Given the description of an element on the screen output the (x, y) to click on. 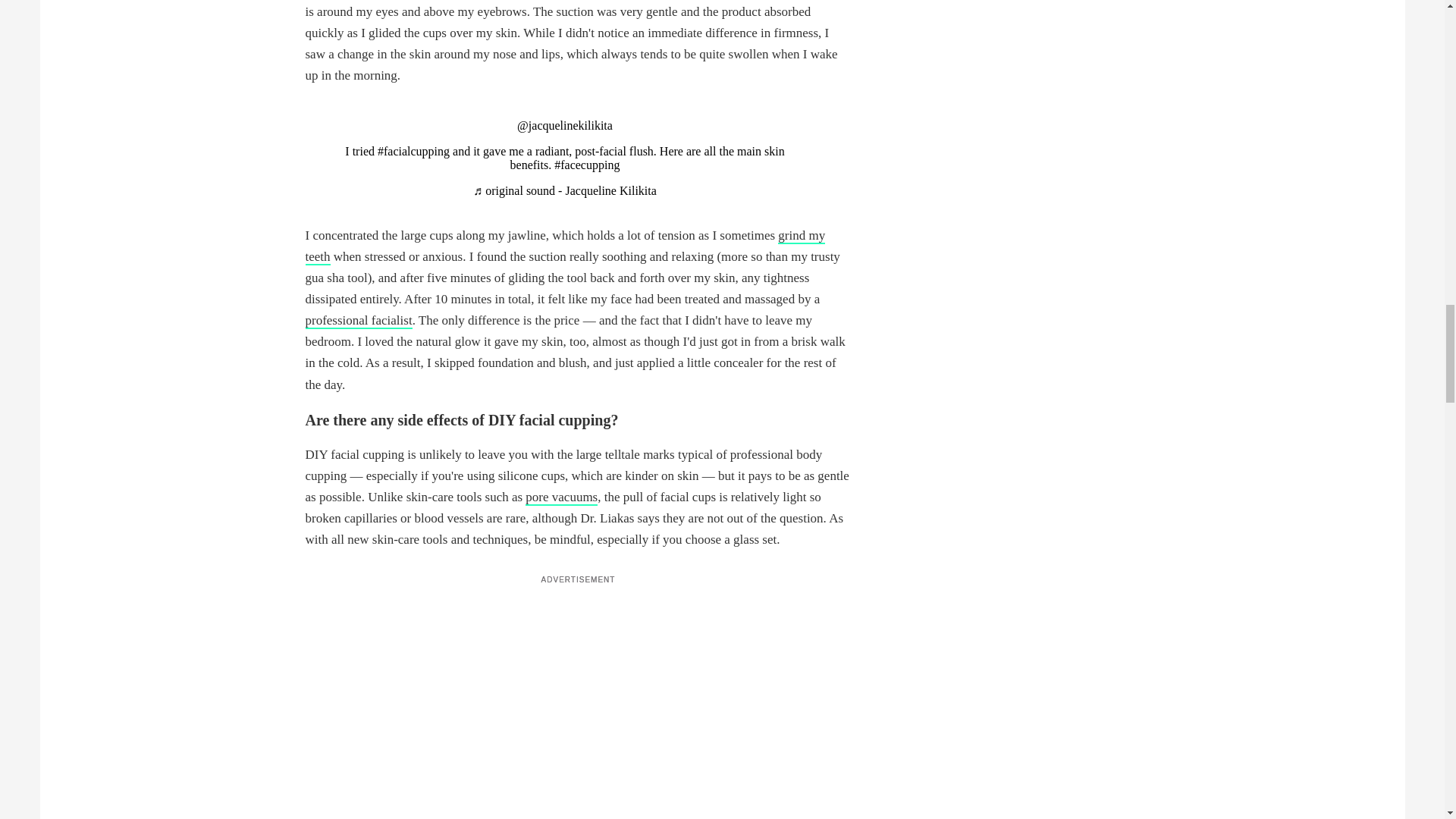
facialcupping (413, 151)
facecupping (587, 164)
